Given the description of an element on the screen output the (x, y) to click on. 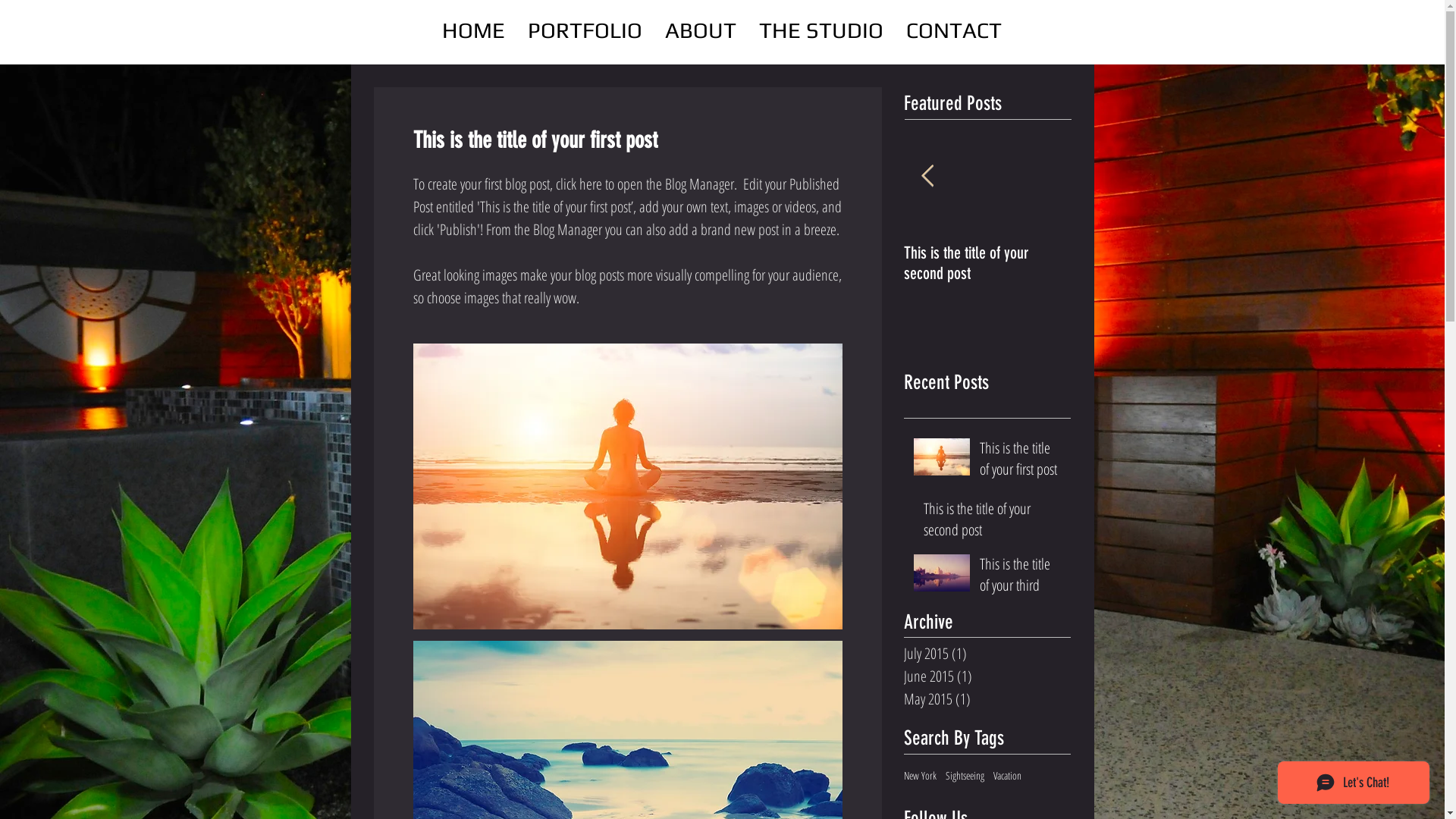
July 2015 (1) Element type: text (983, 653)
Vacation Element type: text (1007, 775)
New York Element type: text (919, 775)
This is the title of your first post Element type: text (1020, 461)
June 2015 (1) Element type: text (983, 676)
ABOUT Element type: text (700, 30)
This is the title of your first post Element type: text (820, 262)
CONTACT Element type: text (953, 30)
PORTFOLIO Element type: text (584, 30)
This is the title of your second post Element type: text (992, 522)
THE STUDIO Element type: text (820, 30)
HOME Element type: text (473, 30)
Sightseeing Element type: text (963, 775)
This is the title of your second post Element type: text (986, 262)
This is the title of your third post Element type: text (1020, 588)
May 2015 (1) Element type: text (983, 698)
